Given the description of an element on the screen output the (x, y) to click on. 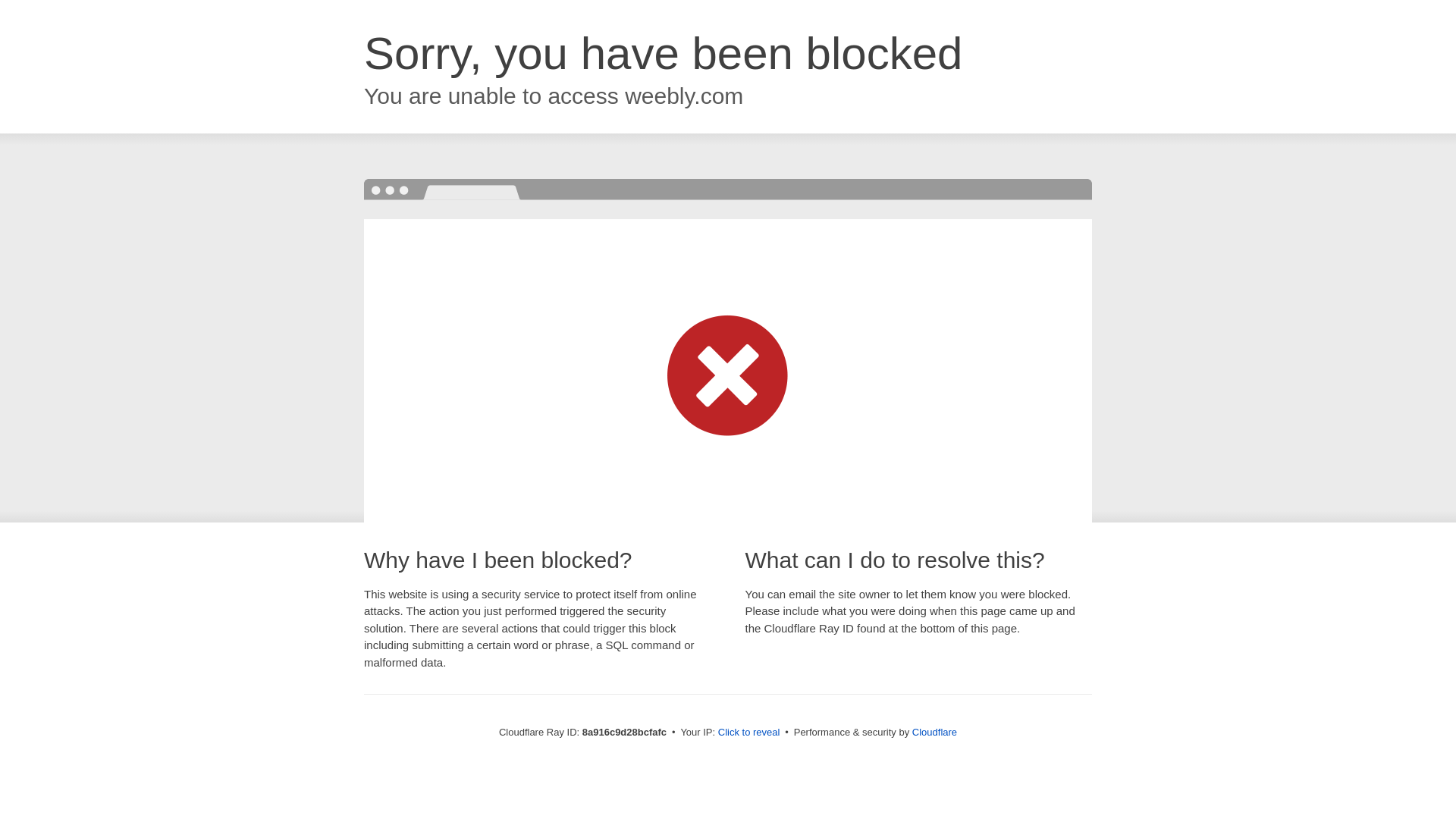
Click to reveal (748, 732)
Cloudflare (934, 731)
